Given the description of an element on the screen output the (x, y) to click on. 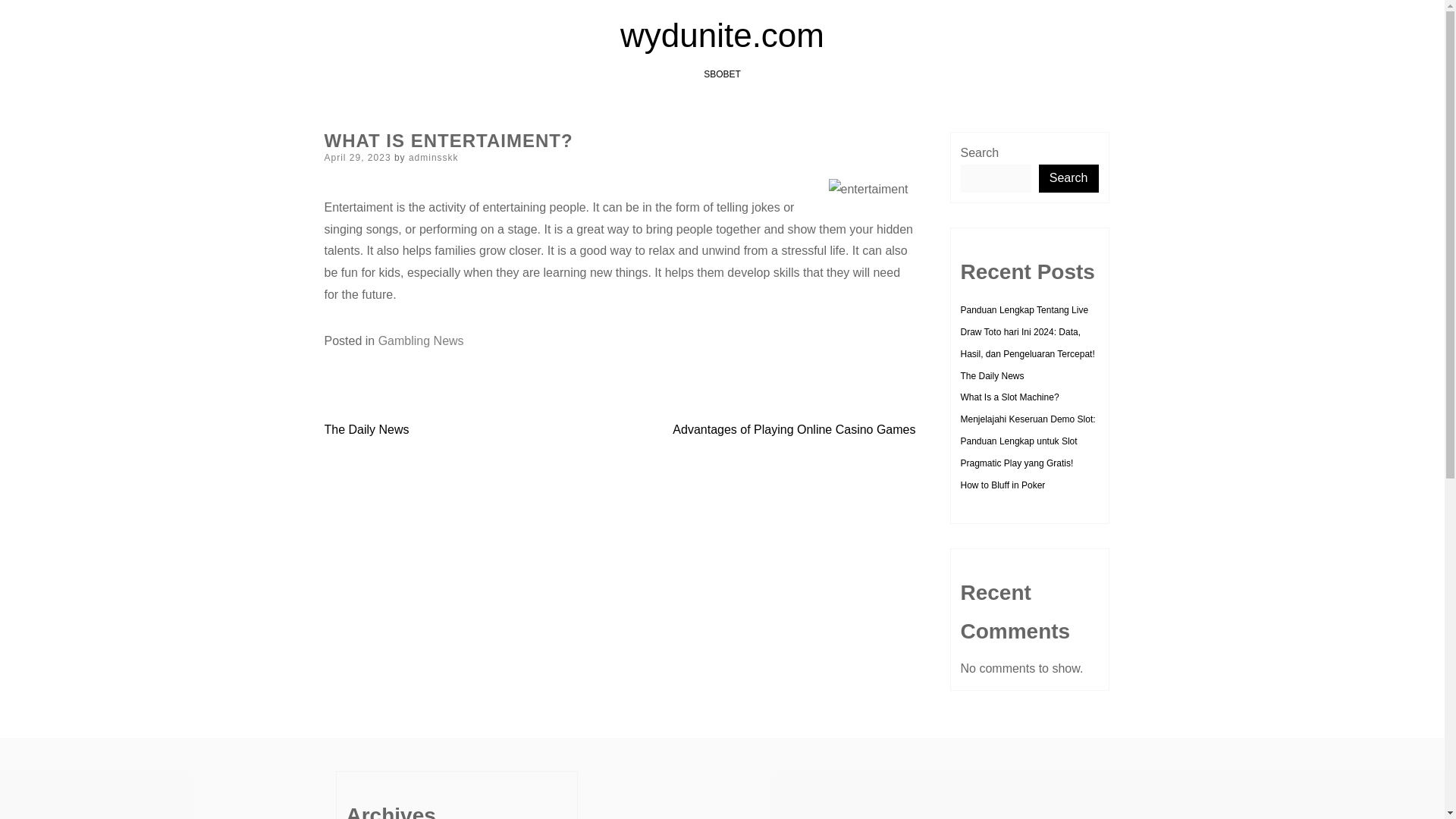
The Daily News (991, 376)
wydunite.com (722, 35)
What Is a Slot Machine? (1008, 397)
Search (1069, 178)
SBOBET (722, 73)
adminsskk (433, 157)
April 29, 2023 (357, 157)
The Daily News (366, 429)
